Given the description of an element on the screen output the (x, y) to click on. 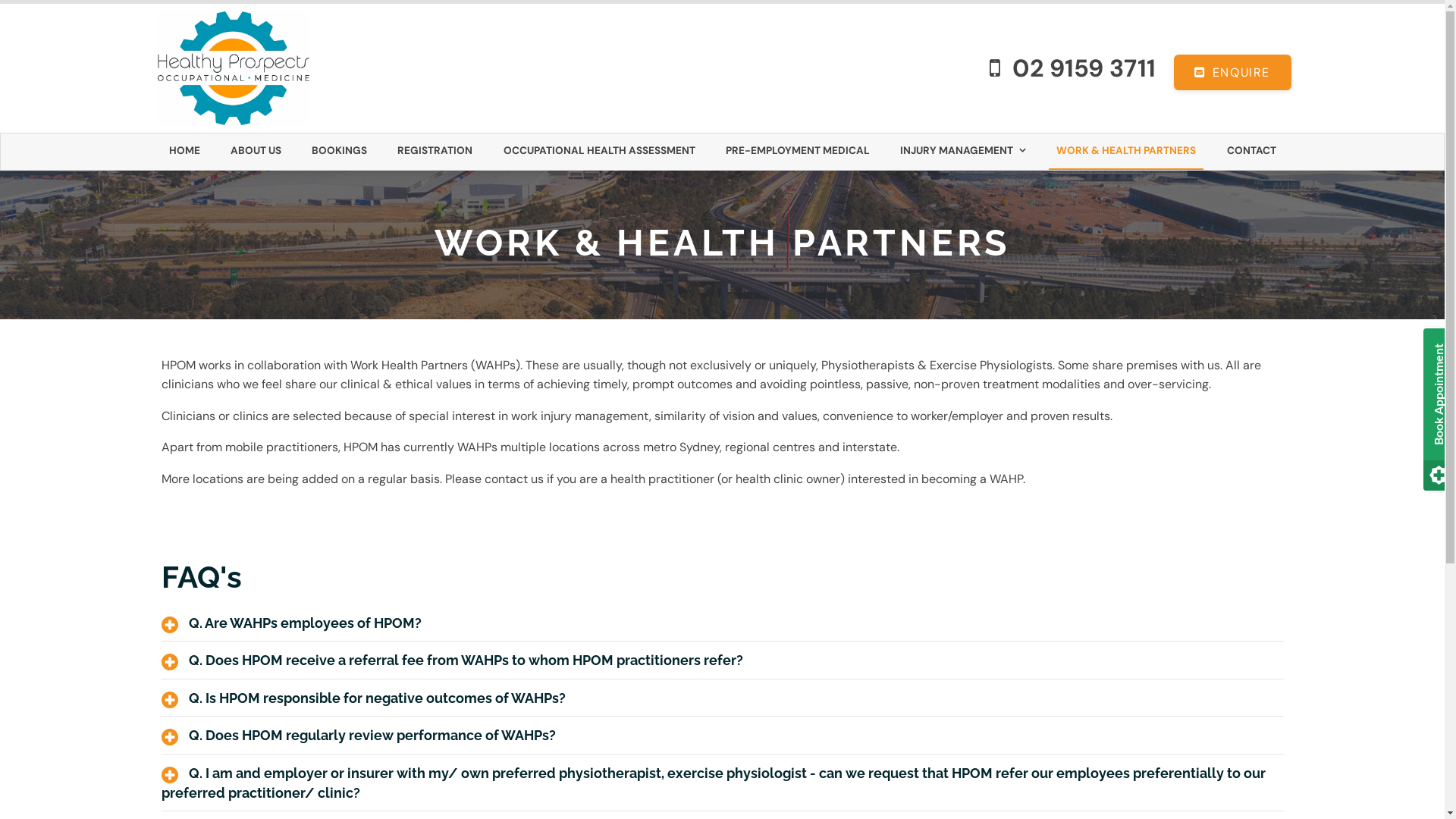
ABOUT US Element type: text (255, 151)
PRE-EMPLOYMENT MEDICAL Element type: text (797, 151)
OCCUPATIONAL HEALTH ASSESSMENT Element type: text (598, 151)
REGISTRATION Element type: text (434, 151)
HOME Element type: text (183, 151)
BOOKINGS Element type: text (339, 151)
CONTACT Element type: text (1251, 151)
INJURY MANAGEMENT Element type: text (962, 151)
WORK & HEALTH PARTNERS Element type: text (1125, 151)
ENQUIRE Element type: text (1232, 72)
